Given the description of an element on the screen output the (x, y) to click on. 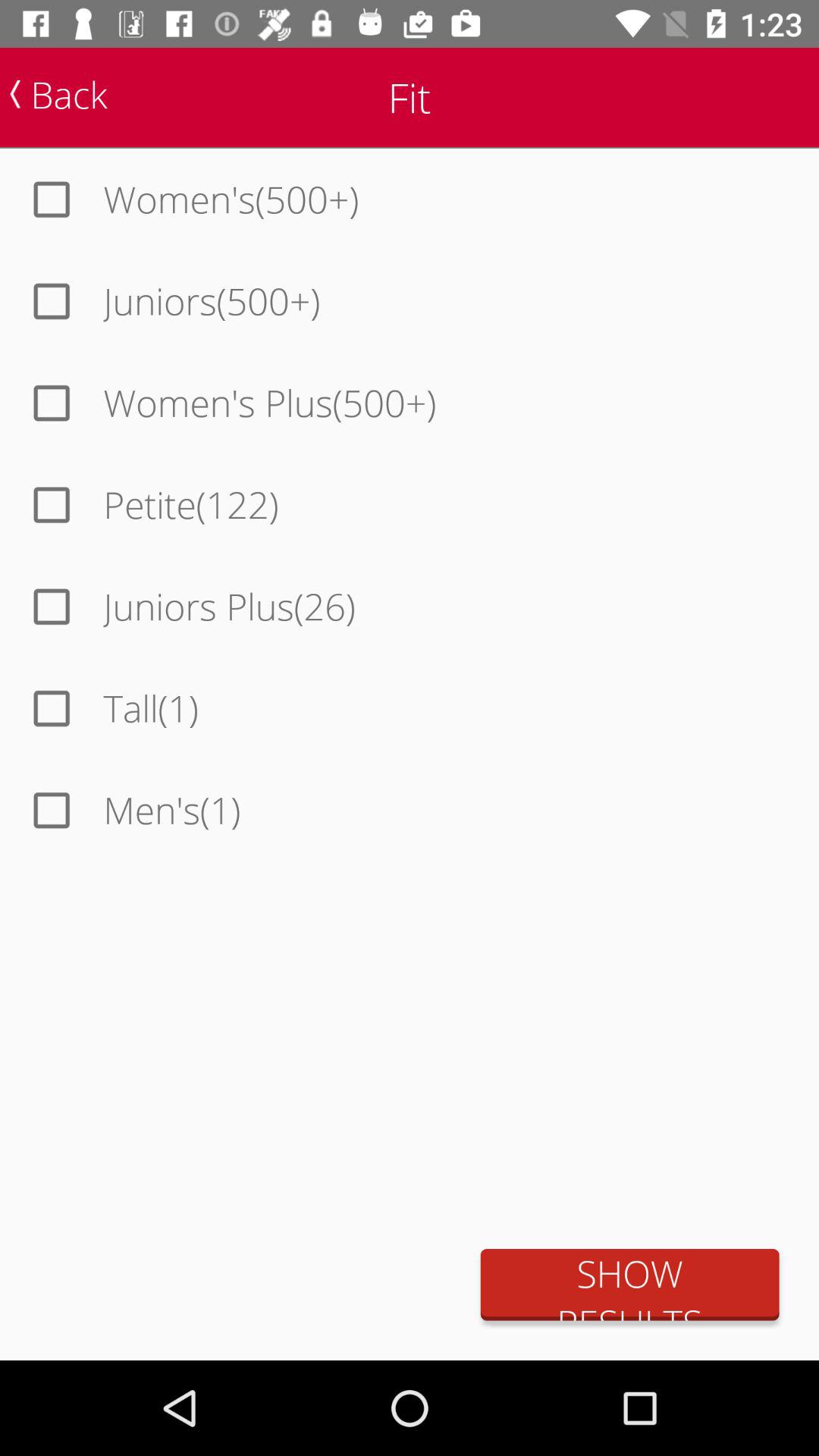
select the back item (58, 93)
